Given the description of an element on the screen output the (x, y) to click on. 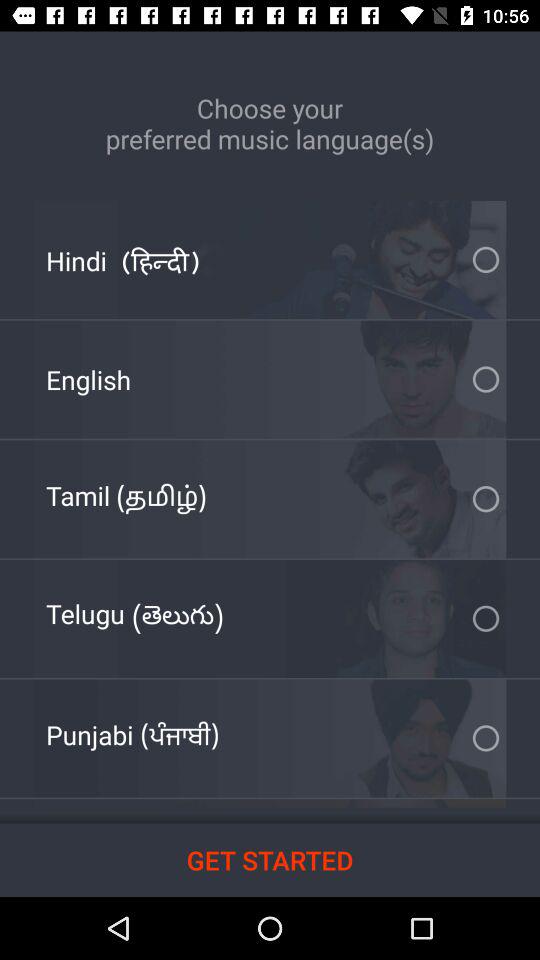
open the item at the bottom left corner (132, 738)
